Given the description of an element on the screen output the (x, y) to click on. 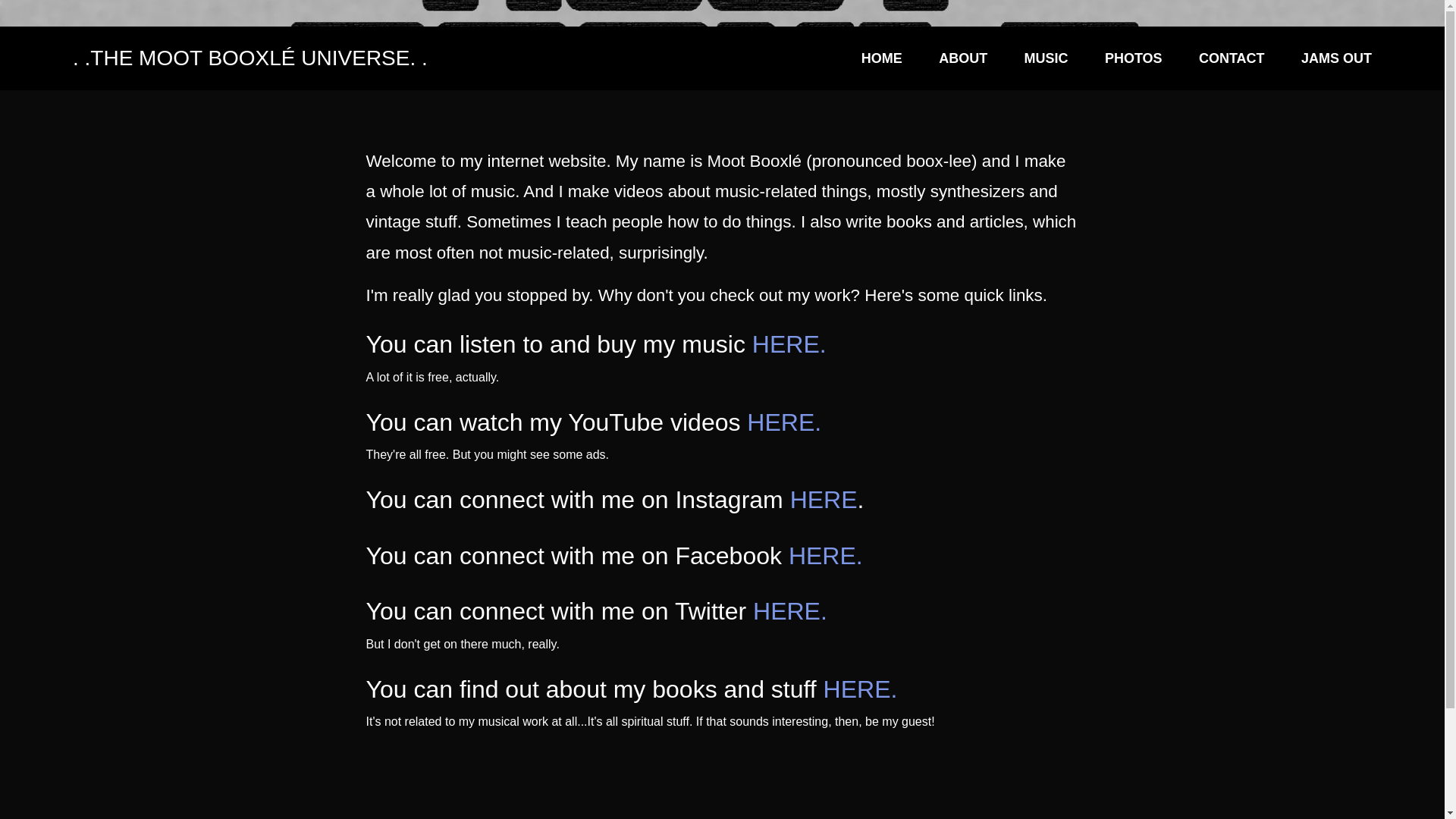
HERE. (783, 421)
HERE. (789, 610)
HERE. (826, 555)
HERE. (789, 343)
HERE. (861, 688)
HERE (823, 499)
